Given the description of an element on the screen output the (x, y) to click on. 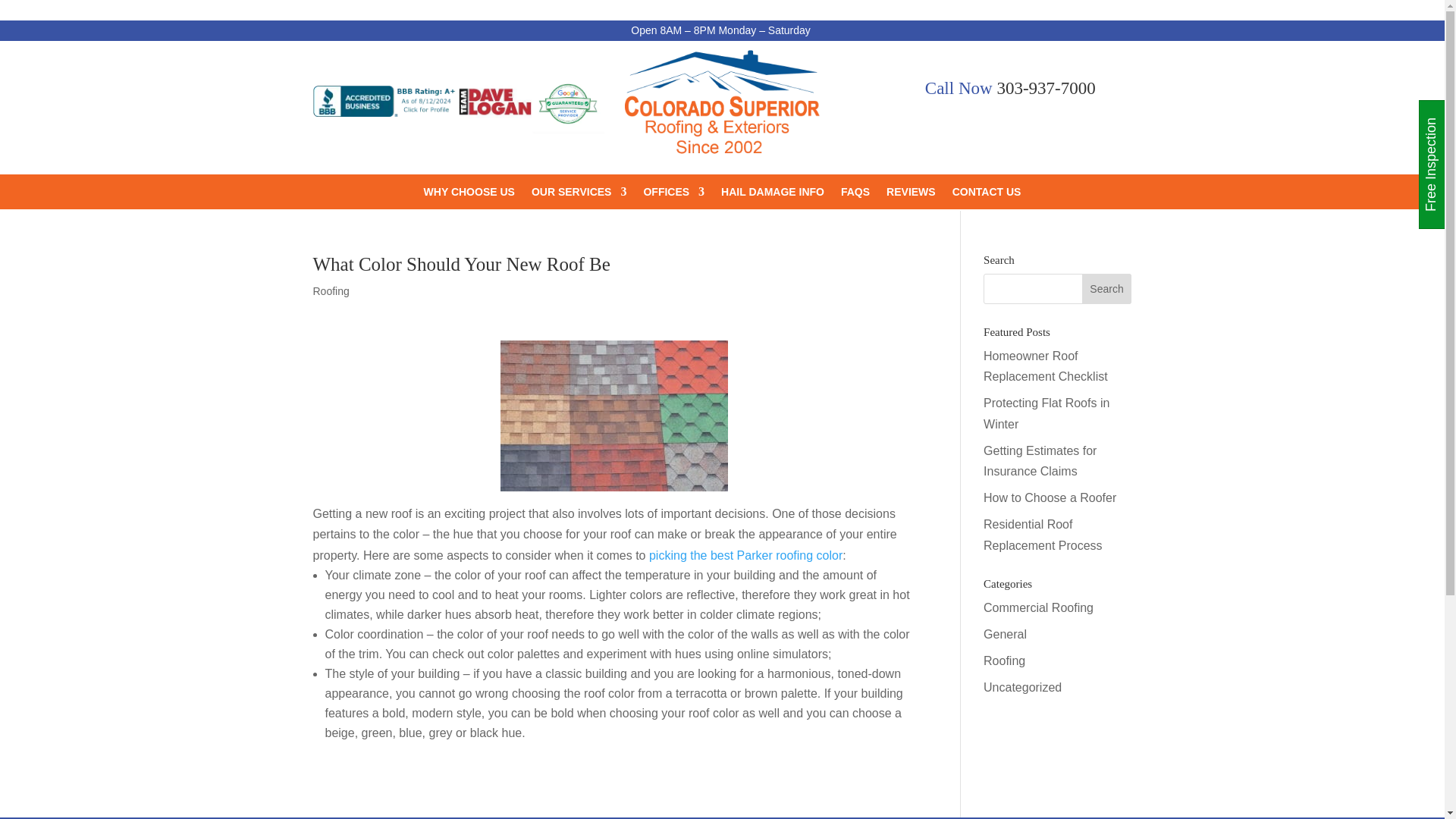
Protecting Flat Roofs in Winter (1046, 412)
REVIEWS (911, 194)
CONTACT US (987, 194)
Search (1106, 288)
Roofing (1004, 660)
Roofing (331, 291)
HAIL DAMAGE INFO (772, 194)
OUR SERVICES (579, 194)
How to Choose a Roofer (1050, 497)
Getting Estimates for Insurance Claims (1040, 460)
